Given the description of an element on the screen output the (x, y) to click on. 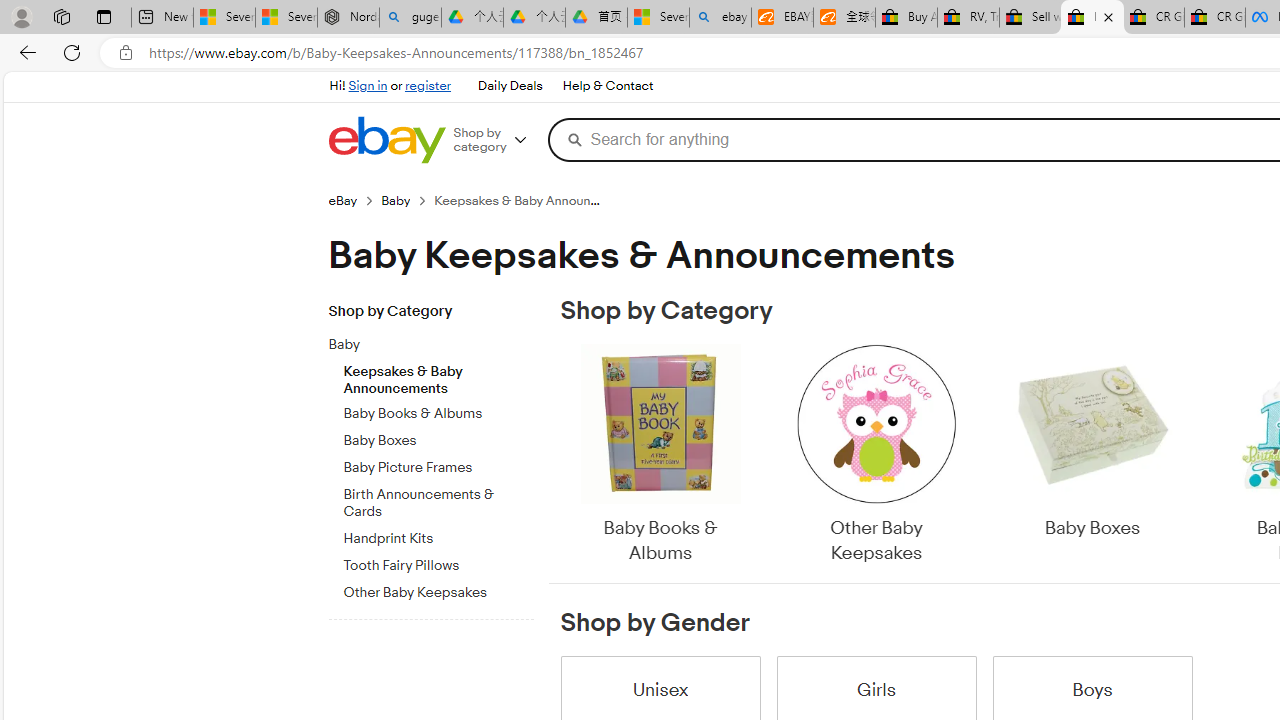
Go to previous slide (560, 455)
RV, Trailer & Camper Steps & Ladders for sale | eBay (968, 17)
Handprint Kits (438, 535)
